Given the description of an element on the screen output the (x, y) to click on. 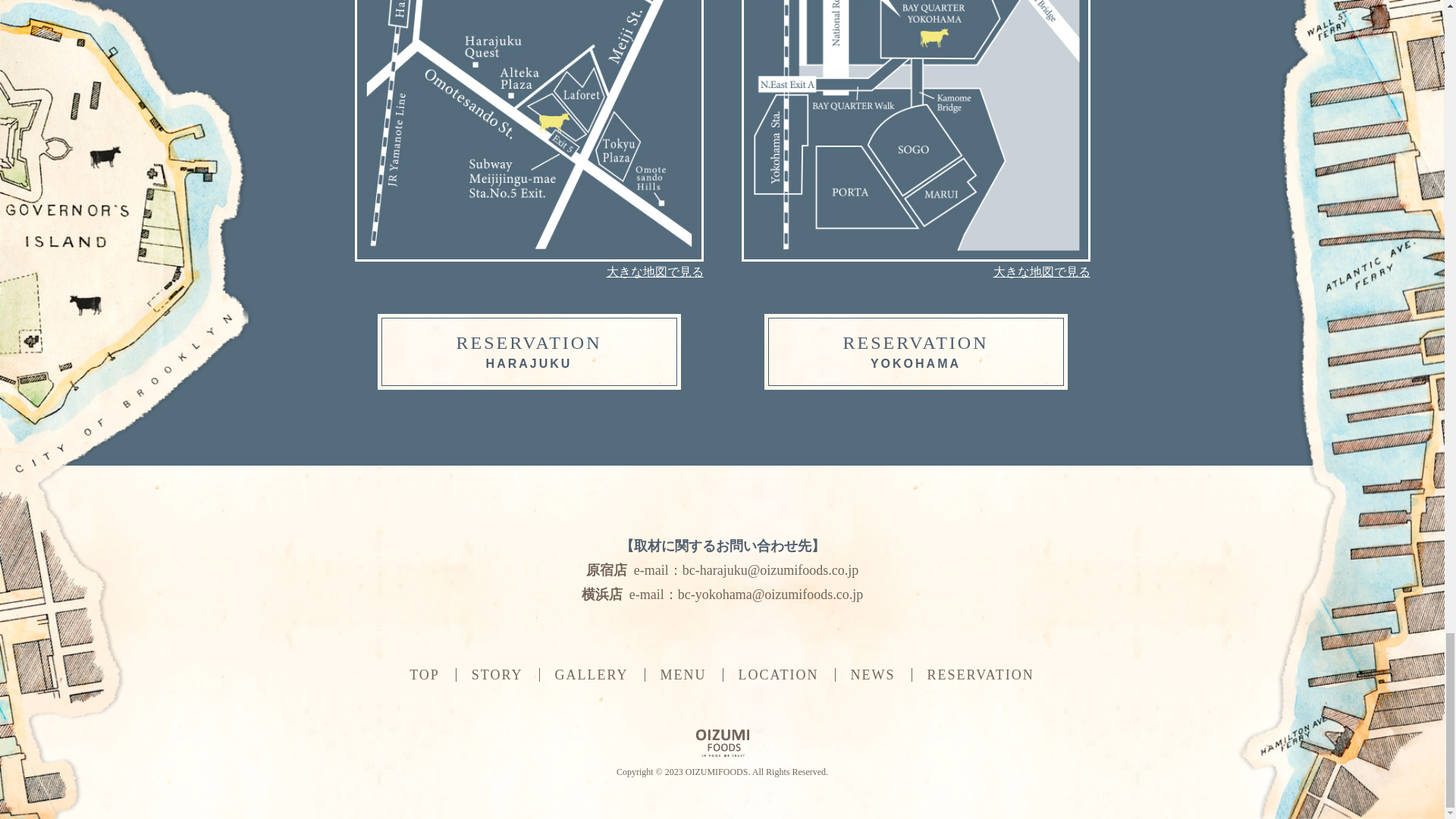
LOCATION (778, 674)
RESERVATION (915, 351)
NEWS (529, 351)
GALLERY (980, 674)
MENU (872, 674)
STORY (591, 674)
TOP (683, 674)
